Given the description of an element on the screen output the (x, y) to click on. 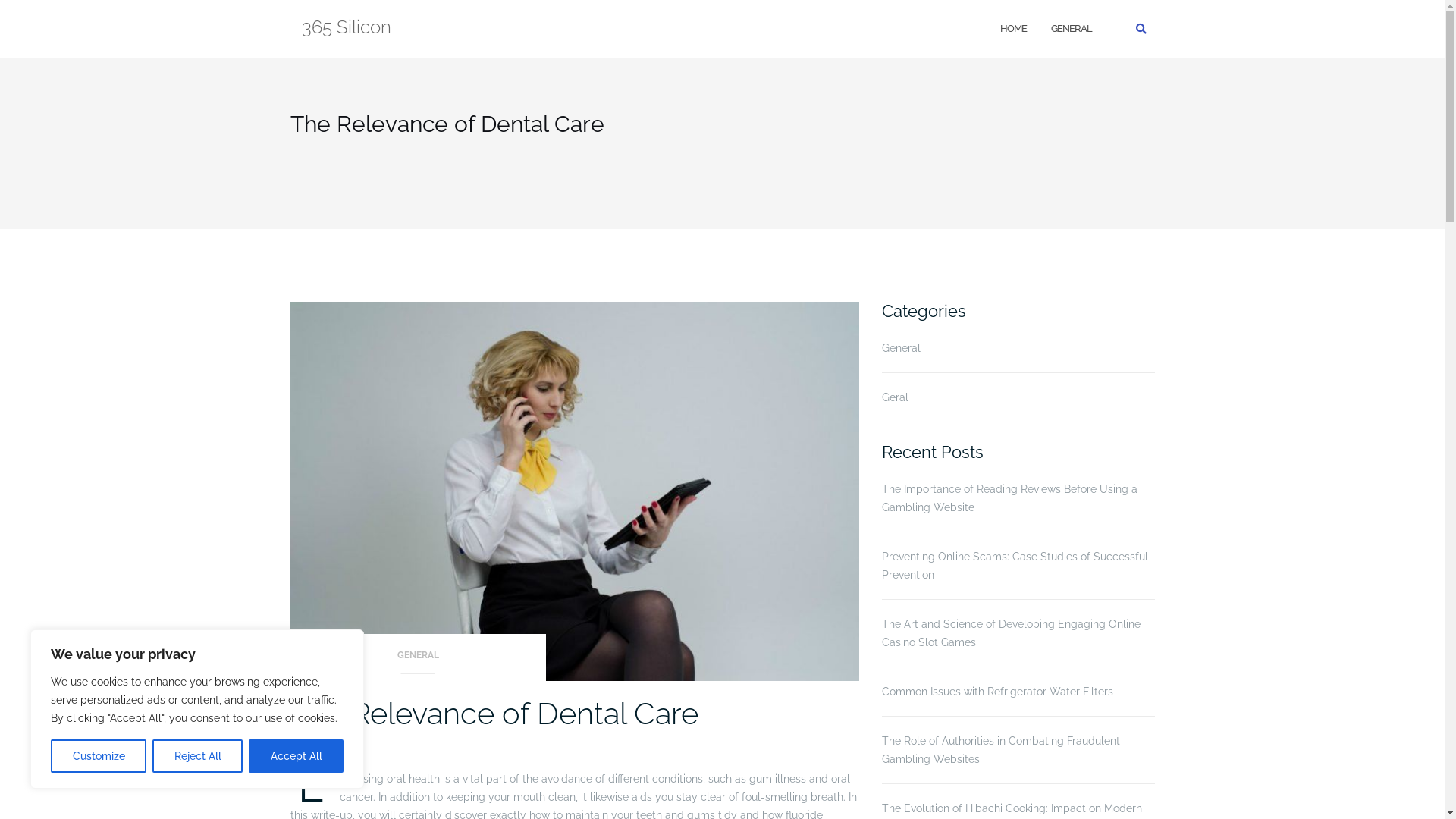
365 Silicon Element type: text (346, 28)
Geral Element type: text (894, 397)
GENERAL Element type: text (1071, 28)
The Relevance of Dental Care Element type: text (493, 713)
HOME Element type: text (1012, 28)
Reject All Element type: text (197, 755)
GENERAL Element type: text (417, 660)
Accept All Element type: text (295, 755)
General Element type: text (900, 348)
Common Issues with Refrigerator Water Filters Element type: text (1017, 691)
Customize Element type: text (98, 755)
